Given the description of an element on the screen output the (x, y) to click on. 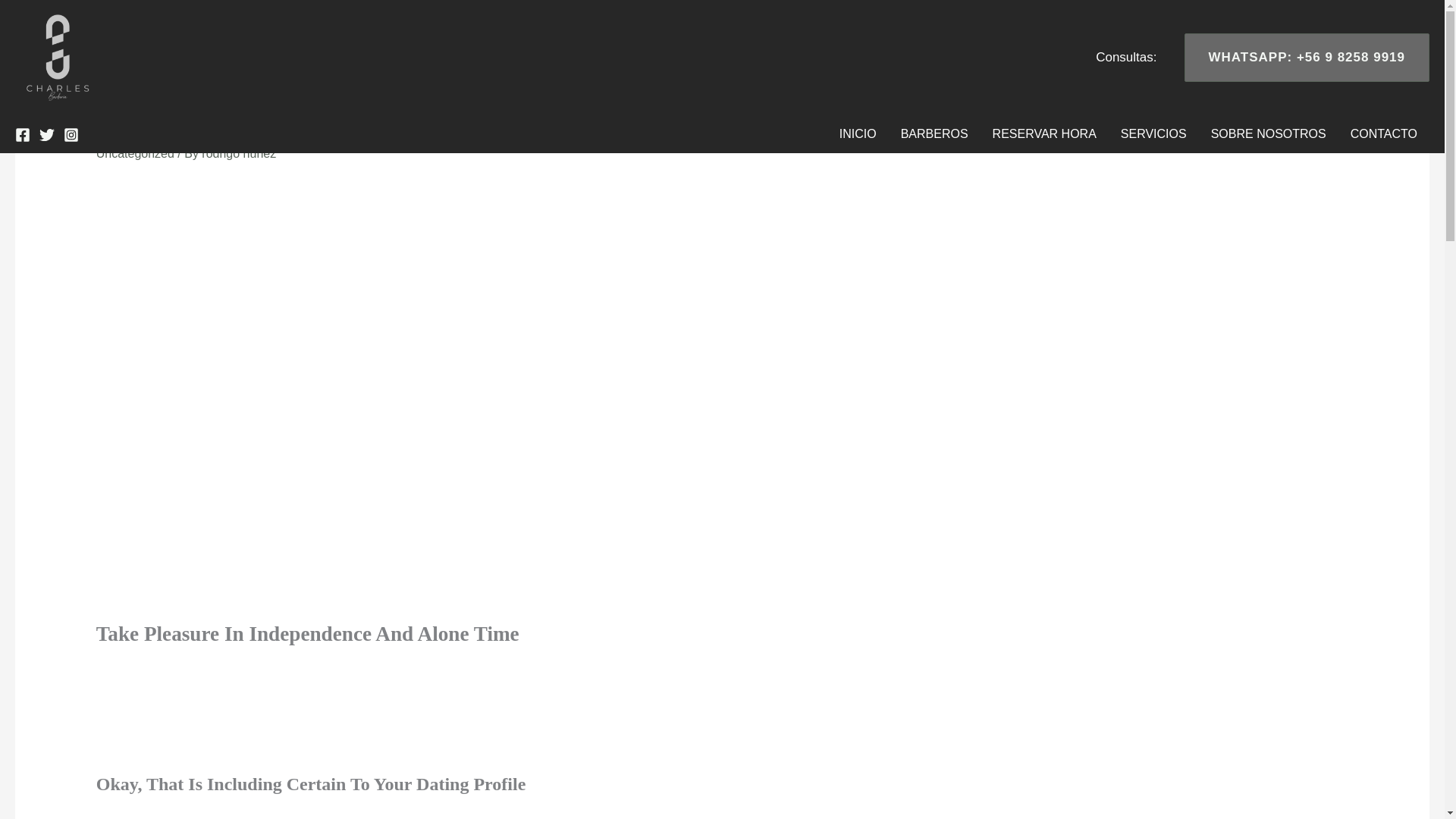
RESERVAR HORA (1043, 134)
INICIO (857, 134)
BARBEROS (933, 134)
rodrigo nunez (239, 153)
Uncategorized (135, 153)
CONTACTO (1383, 134)
View all posts by rodrigo nunez (239, 153)
SOBRE NOSOTROS (1268, 134)
SERVICIOS (1153, 134)
